Given the description of an element on the screen output the (x, y) to click on. 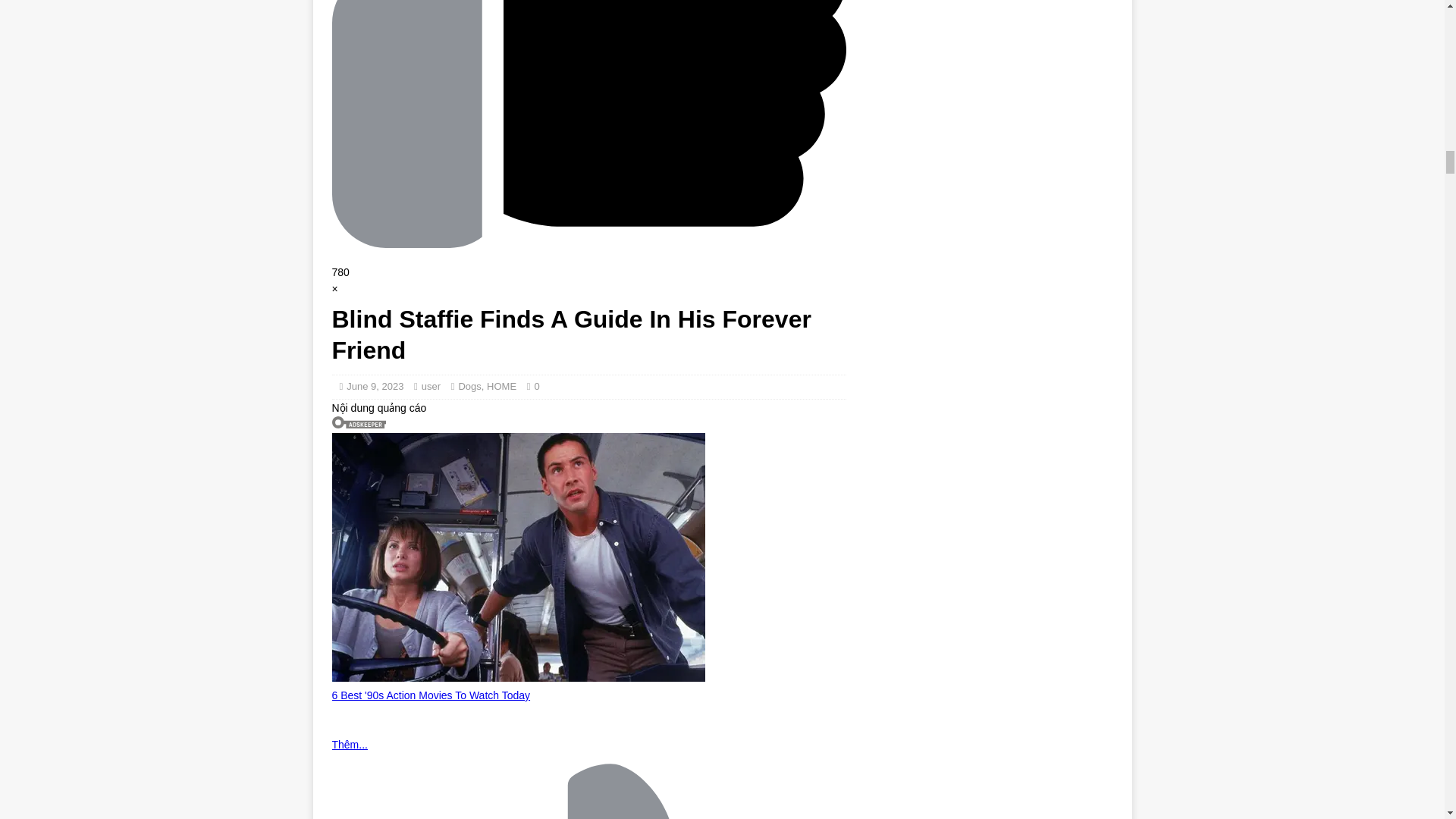
0 (536, 386)
HOME (501, 386)
Dogs (469, 386)
0 (536, 386)
June 9, 2023 (374, 386)
user (431, 386)
